Given the description of an element on the screen output the (x, y) to click on. 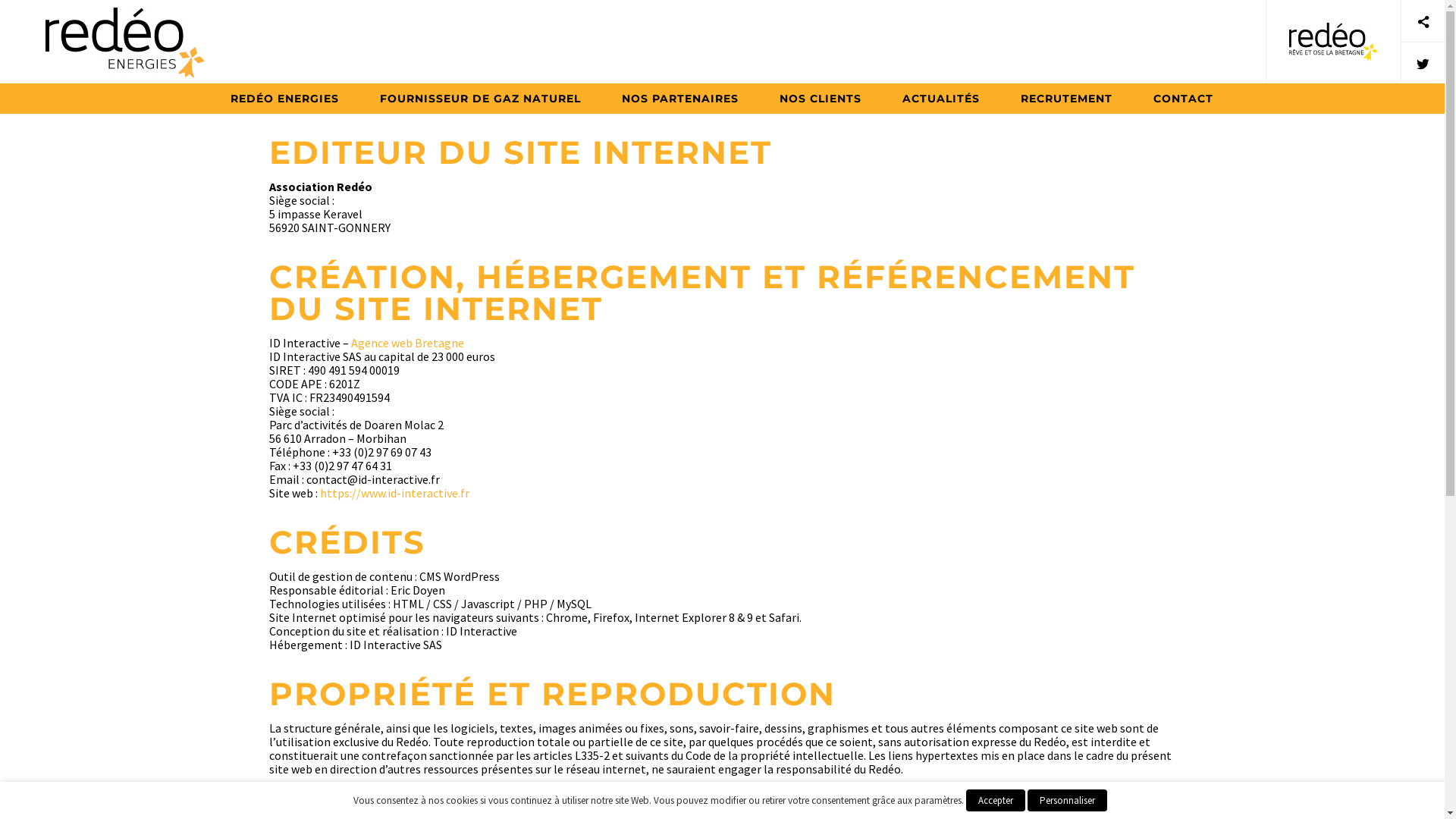
NOS CLIENTS Element type: text (820, 98)
https://www.id-interactive.fr Element type: text (394, 492)
Personnaliser Element type: text (1066, 800)
NOS PARTENAIRES Element type: text (680, 98)
RECRUTEMENT Element type: text (1066, 98)
CONTACT Element type: text (1182, 98)
Accepter Element type: text (995, 800)
FOURNISSEUR DE GAZ NATUREL Element type: text (480, 98)
Agence web Bretagne Element type: text (407, 342)
